Given the description of an element on the screen output the (x, y) to click on. 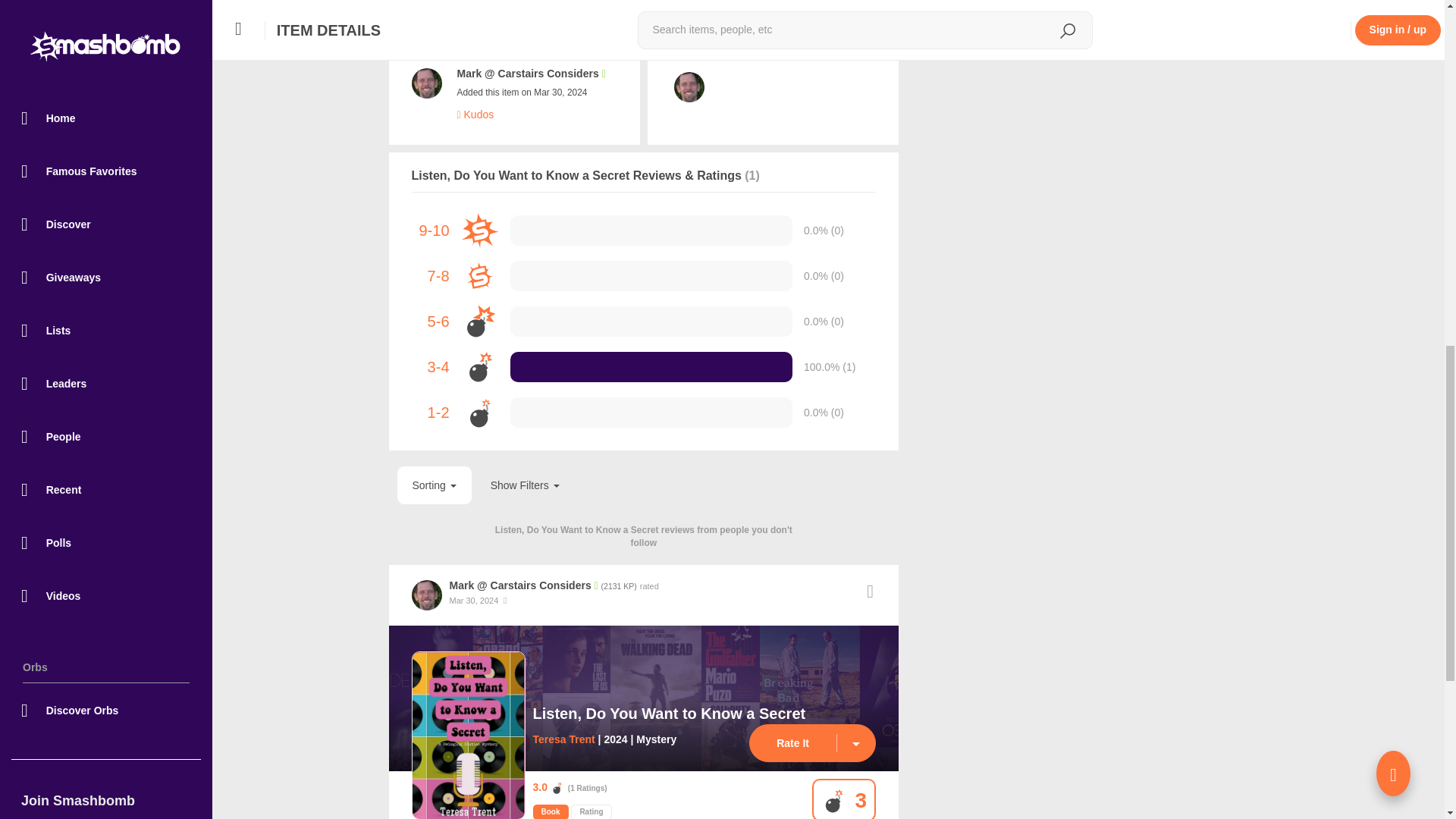
Teresa Trent (563, 739)
Kudos (475, 114)
Mar 30, 2024 - 5:29 AM (472, 600)
Listen, Do You Want to Know a Secret (668, 713)
